Given the description of an element on the screen output the (x, y) to click on. 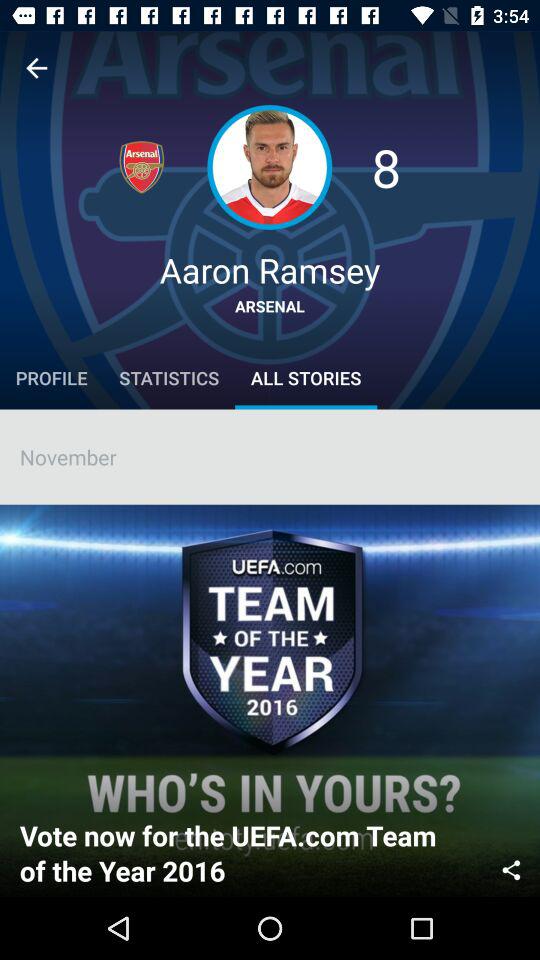
choose the item to the right of vote now for icon (511, 868)
